Given the description of an element on the screen output the (x, y) to click on. 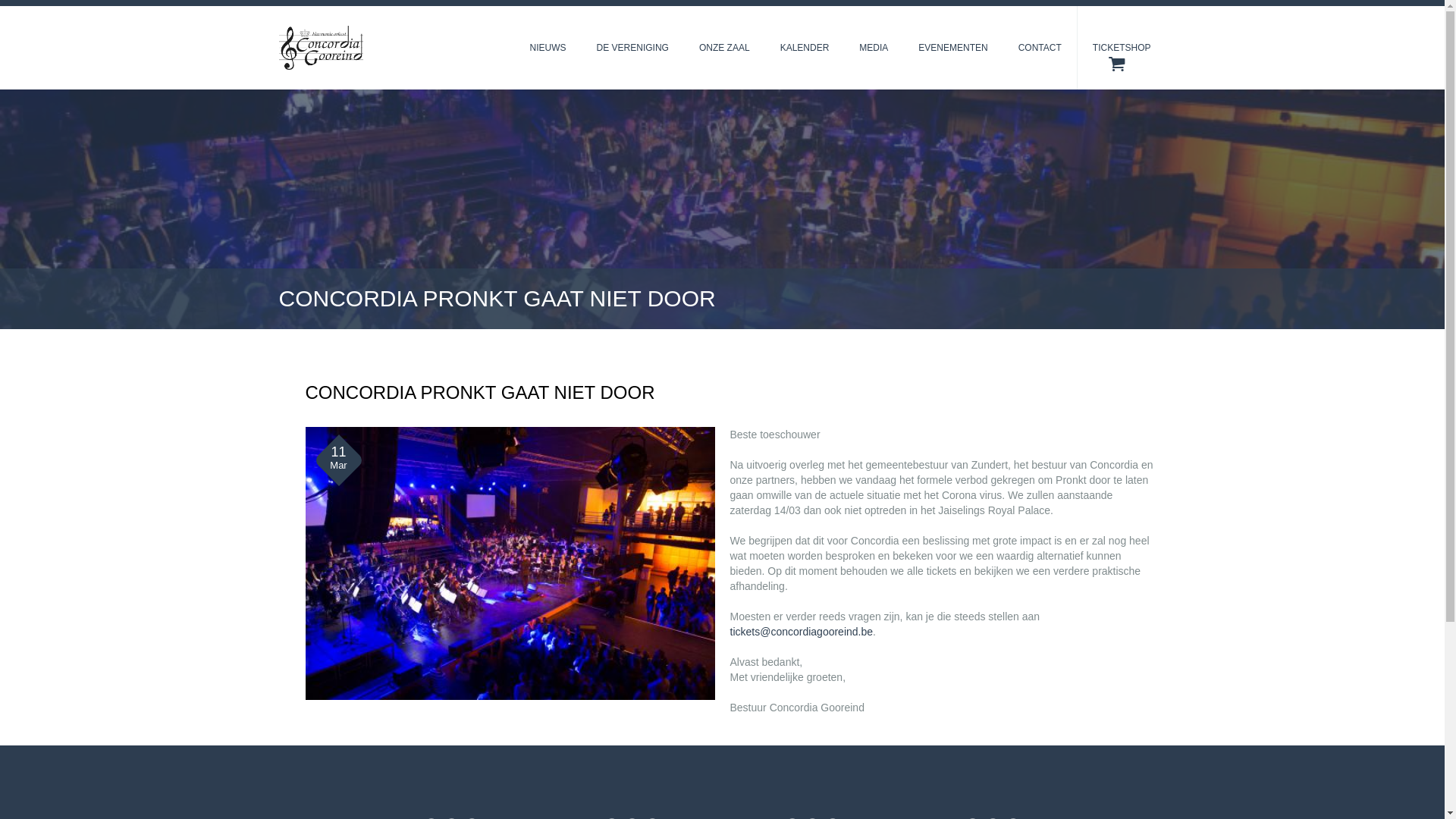
MEDIA Element type: text (873, 47)
CONTACT Element type: text (1039, 47)
TICKETSHOP Element type: text (1121, 47)
NIEUWS Element type: text (547, 47)
DE VERENIGING Element type: text (632, 47)
tickets@concordiagooreind.be Element type: text (800, 631)
KALENDER Element type: text (804, 47)
EVENEMENTEN Element type: text (952, 47)
ONZE ZAAL Element type: text (724, 47)
